Given the description of an element on the screen output the (x, y) to click on. 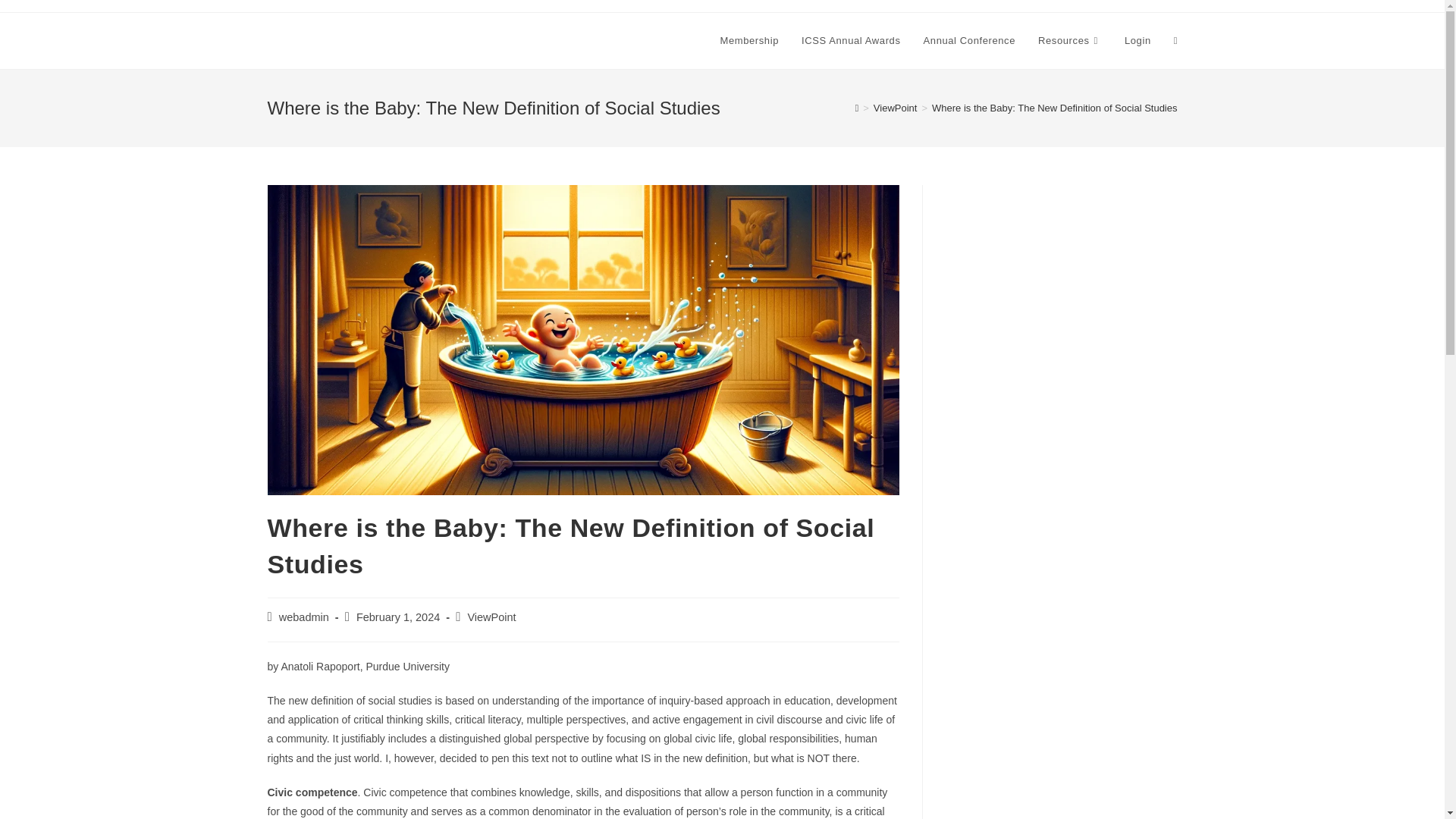
Resources (1069, 40)
Posts by webadmin (304, 616)
ViewPoint (491, 616)
Membership (748, 40)
ICSS Annual Awards (851, 40)
Where is the Baby: The New Definition of Social Studies (1053, 107)
ViewPoint (895, 107)
webadmin (304, 616)
Annual Conference (969, 40)
